Given the description of an element on the screen output the (x, y) to click on. 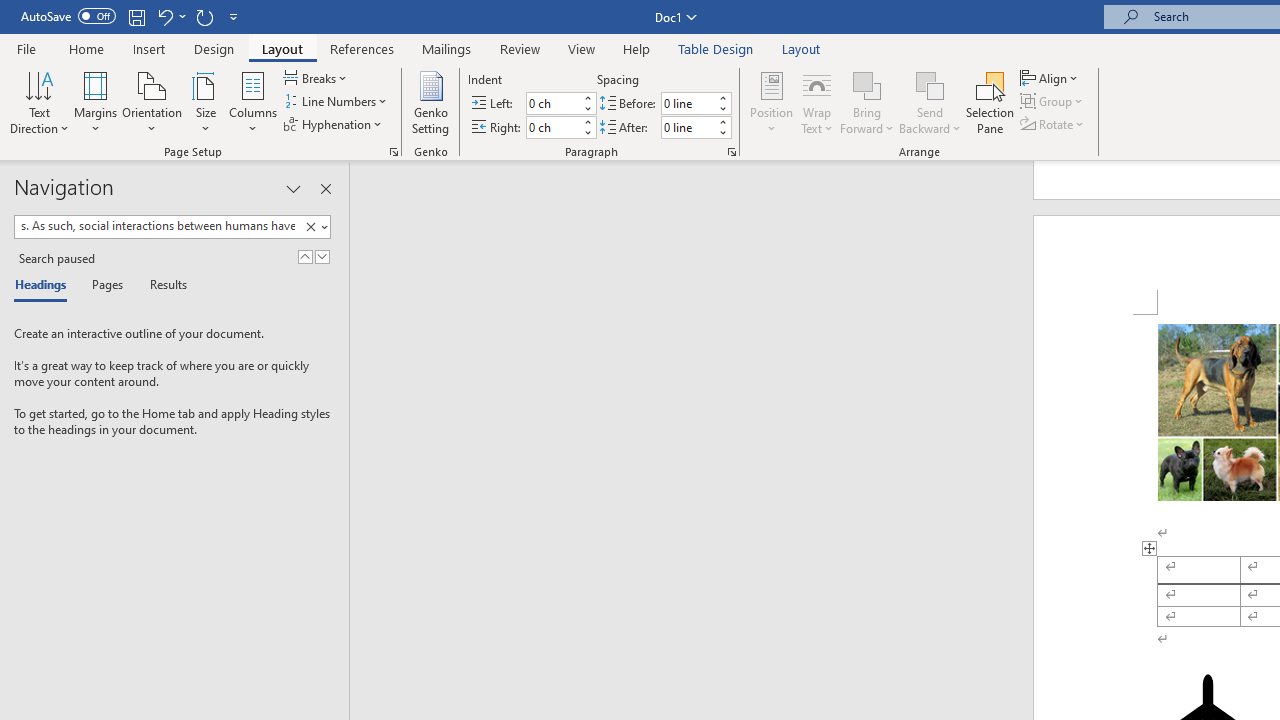
Align (1051, 78)
